Given the description of an element on the screen output the (x, y) to click on. 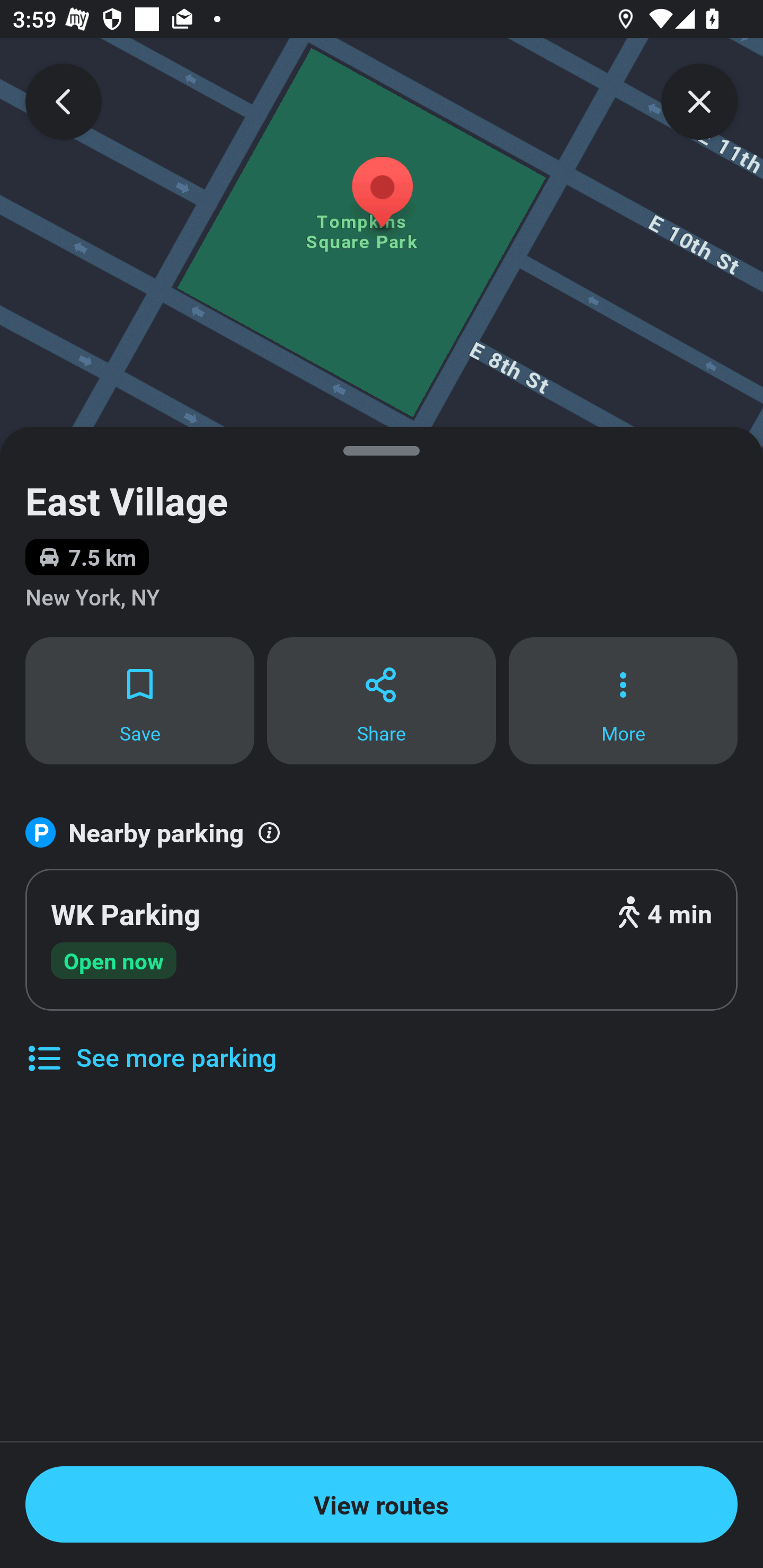
East Village 7.5 km New York, NY (381, 531)
Save (139, 700)
Share (381, 700)
More (622, 700)
WK Parking 4 min Open now (381, 939)
See more parking (150, 1043)
View routes (381, 1504)
